Given the description of an element on the screen output the (x, y) to click on. 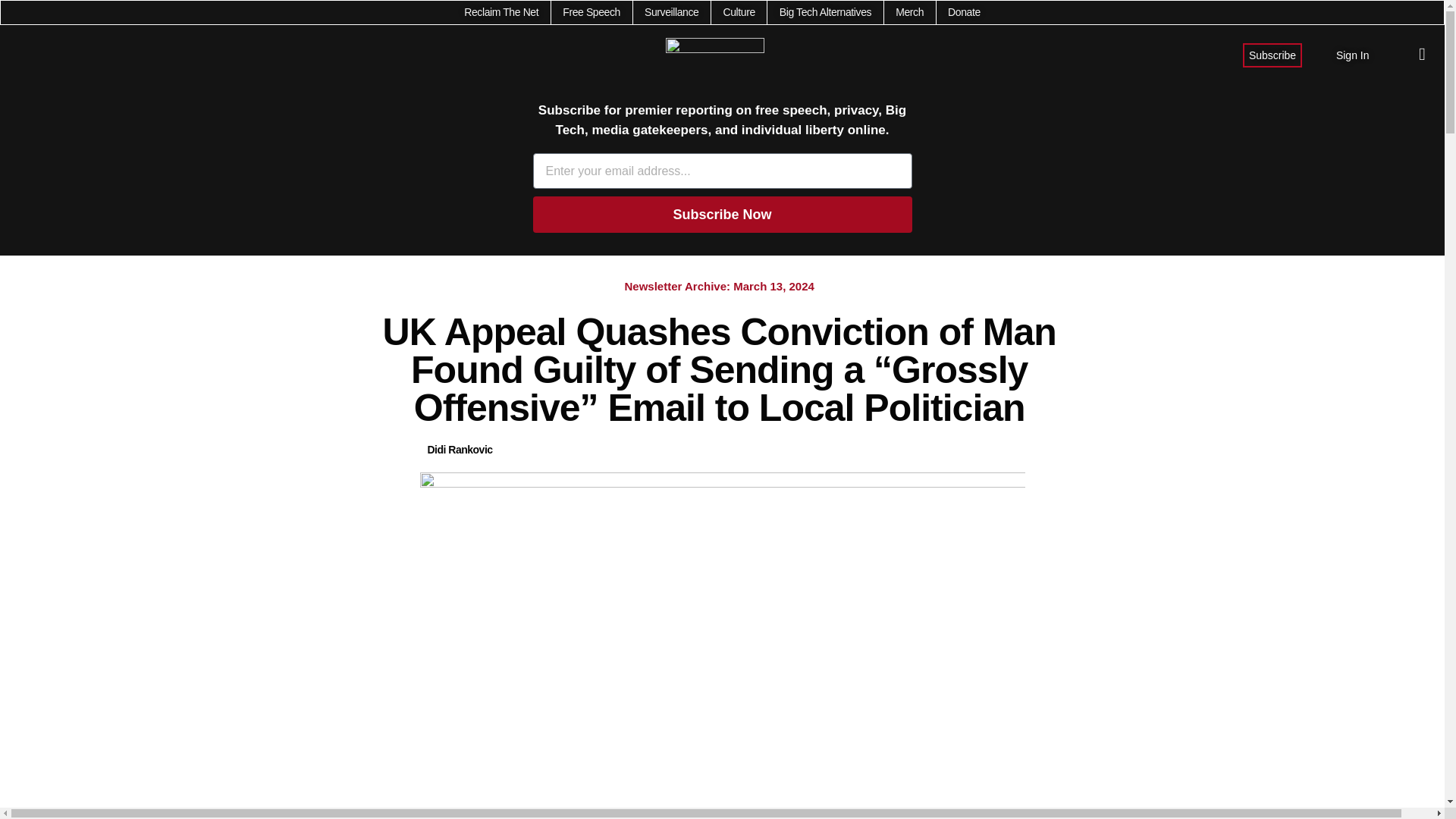
Merch (909, 12)
Culture (738, 12)
Big Tech Alternatives (824, 12)
Reclaim The Net (501, 12)
Free Speech (591, 12)
Donate (963, 12)
Subscribe (1272, 55)
Sign In (1353, 55)
Surveillance (671, 12)
Subscribe Now (721, 214)
